Given the description of an element on the screen output the (x, y) to click on. 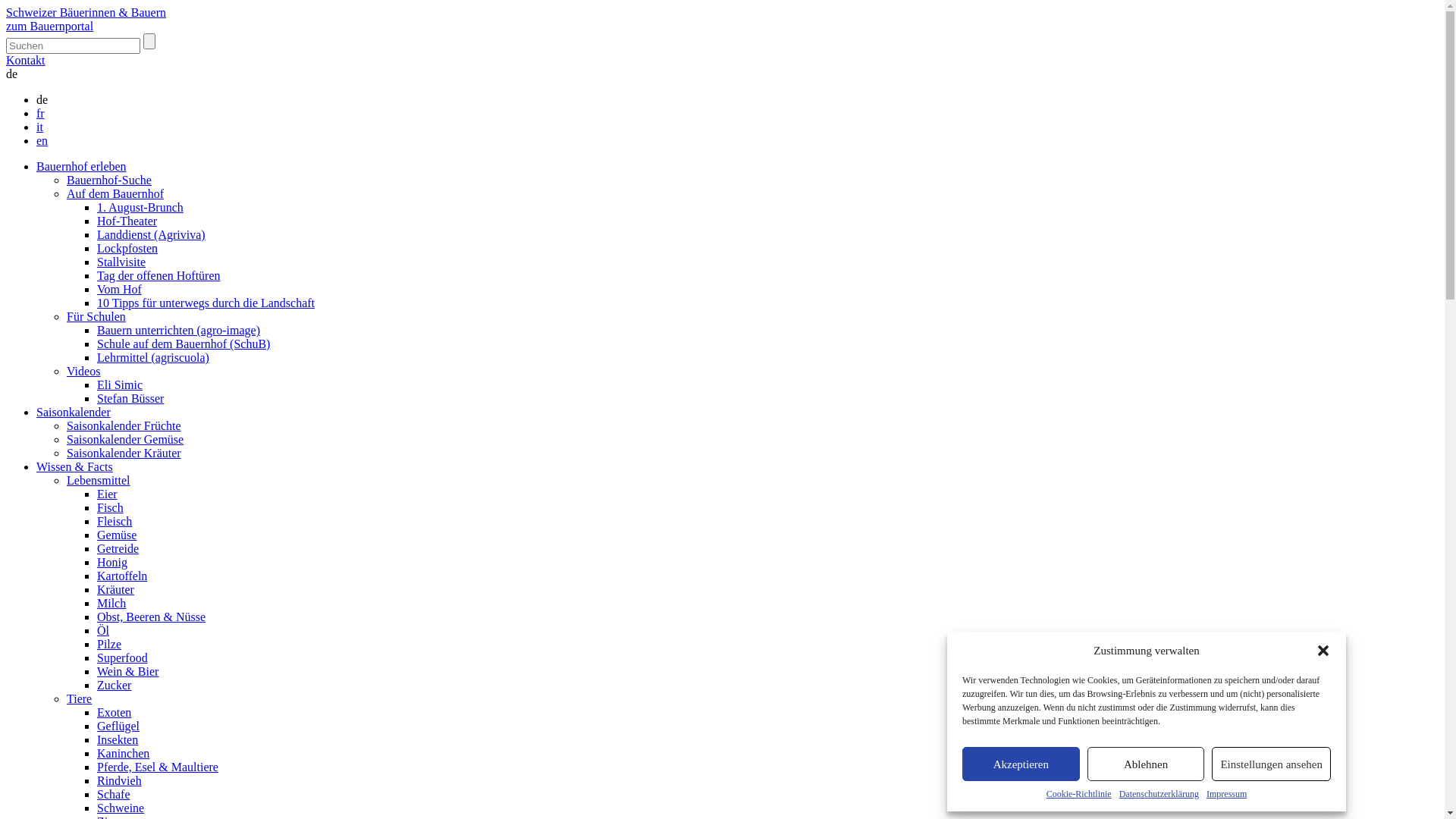
Lebensmittel Element type: text (98, 479)
Schafe Element type: text (113, 793)
Einstellungen ansehen Element type: text (1270, 763)
Schweine Element type: text (120, 807)
Kaninchen Element type: text (123, 752)
Insekten Element type: text (117, 739)
Milch Element type: text (111, 602)
Ablehnen Element type: text (1145, 763)
Lockpfosten Element type: text (127, 247)
Eli Simic Element type: text (119, 384)
Getreide Element type: text (117, 548)
Stallvisite Element type: text (121, 261)
Rindvieh Element type: text (119, 780)
Wein & Bier Element type: text (127, 671)
Videos Element type: text (83, 370)
1. August-Brunch Element type: text (140, 206)
Akzeptieren Element type: text (1020, 763)
Pferde, Esel & Maultiere Element type: text (157, 766)
Eier Element type: text (107, 493)
Schule auf dem Bauernhof (SchuB) Element type: text (183, 343)
Vom Hof Element type: text (119, 288)
it Element type: text (39, 126)
Bauernhof-Suche Element type: text (108, 179)
Wissen & Facts Element type: text (74, 466)
Auf dem Bauernhof Element type: text (114, 193)
Landdienst (Agriviva) Element type: text (151, 234)
Fisch Element type: text (110, 507)
en Element type: text (41, 140)
Zucker Element type: text (114, 684)
Exoten Element type: text (114, 712)
zum Bauernportal Element type: text (49, 25)
Lehrmittel (agriscuola) Element type: text (153, 357)
fr Element type: text (40, 112)
Tiere Element type: text (78, 698)
Saisonkalender Element type: text (73, 411)
Honig Element type: text (112, 561)
Fleisch Element type: text (114, 520)
Kontakt Element type: text (25, 59)
Hof-Theater Element type: text (126, 220)
Superfood Element type: text (122, 657)
Bauernhof erleben Element type: text (81, 166)
Impressum Element type: text (1226, 794)
Pilze Element type: text (109, 643)
Bauern unterrichten (agro-image) Element type: text (178, 329)
Cookie-Richtlinie Element type: text (1078, 794)
Kartoffeln Element type: text (122, 575)
